Given the description of an element on the screen output the (x, y) to click on. 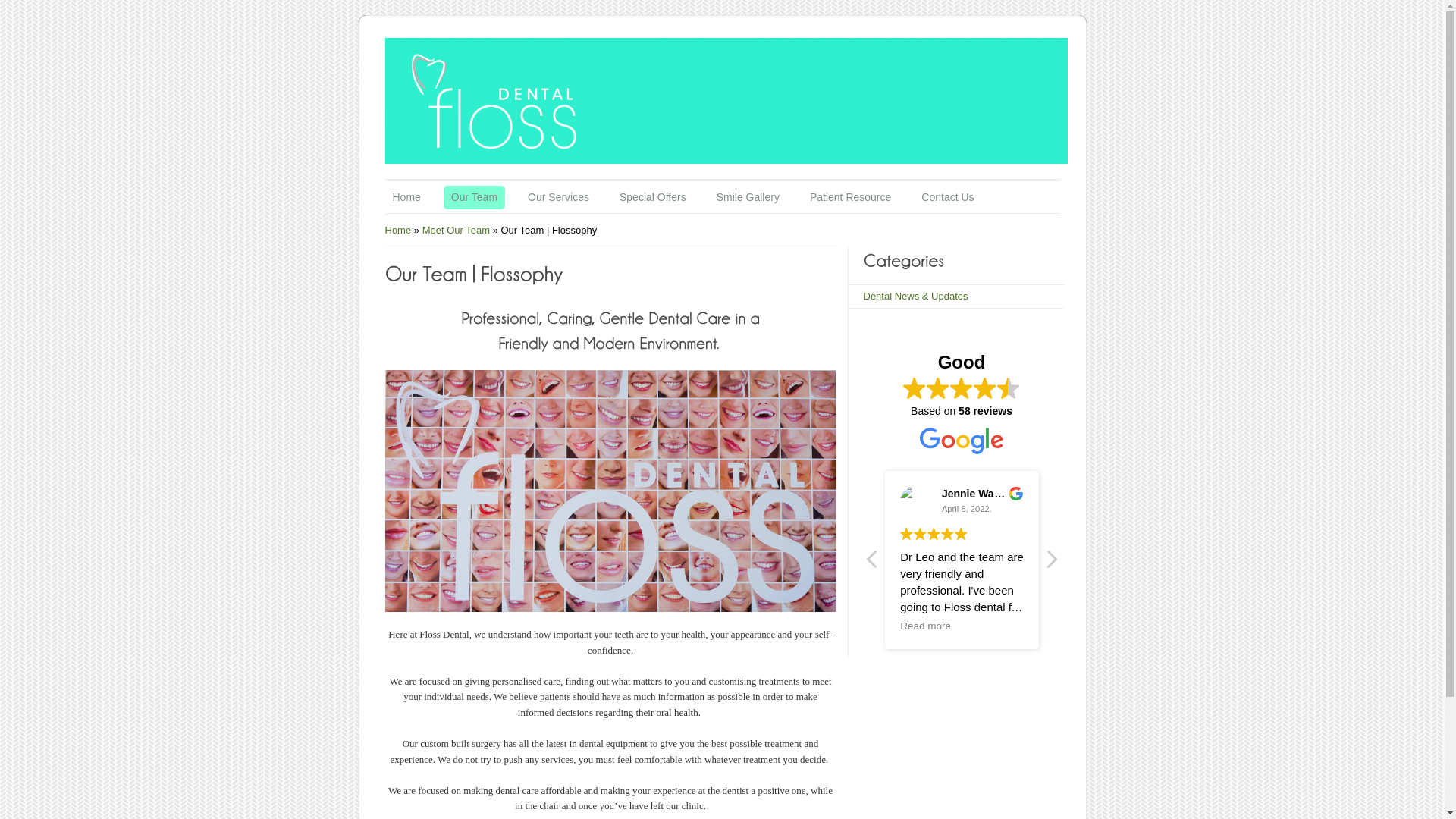
Our Services Element type: text (558, 197)
Patient Resource Element type: text (850, 197)
Our Team Element type: text (474, 197)
Special Offers Element type: text (652, 197)
Smile Gallery Element type: text (748, 197)
Floss Dental Reception Element type: hover (610, 491)
Home Element type: text (406, 197)
Meet Our Team Element type: text (455, 229)
Dental News & Updates Element type: text (914, 295)
Home Element type: text (398, 229)
Contact Us Element type: text (947, 197)
